Given the description of an element on the screen output the (x, y) to click on. 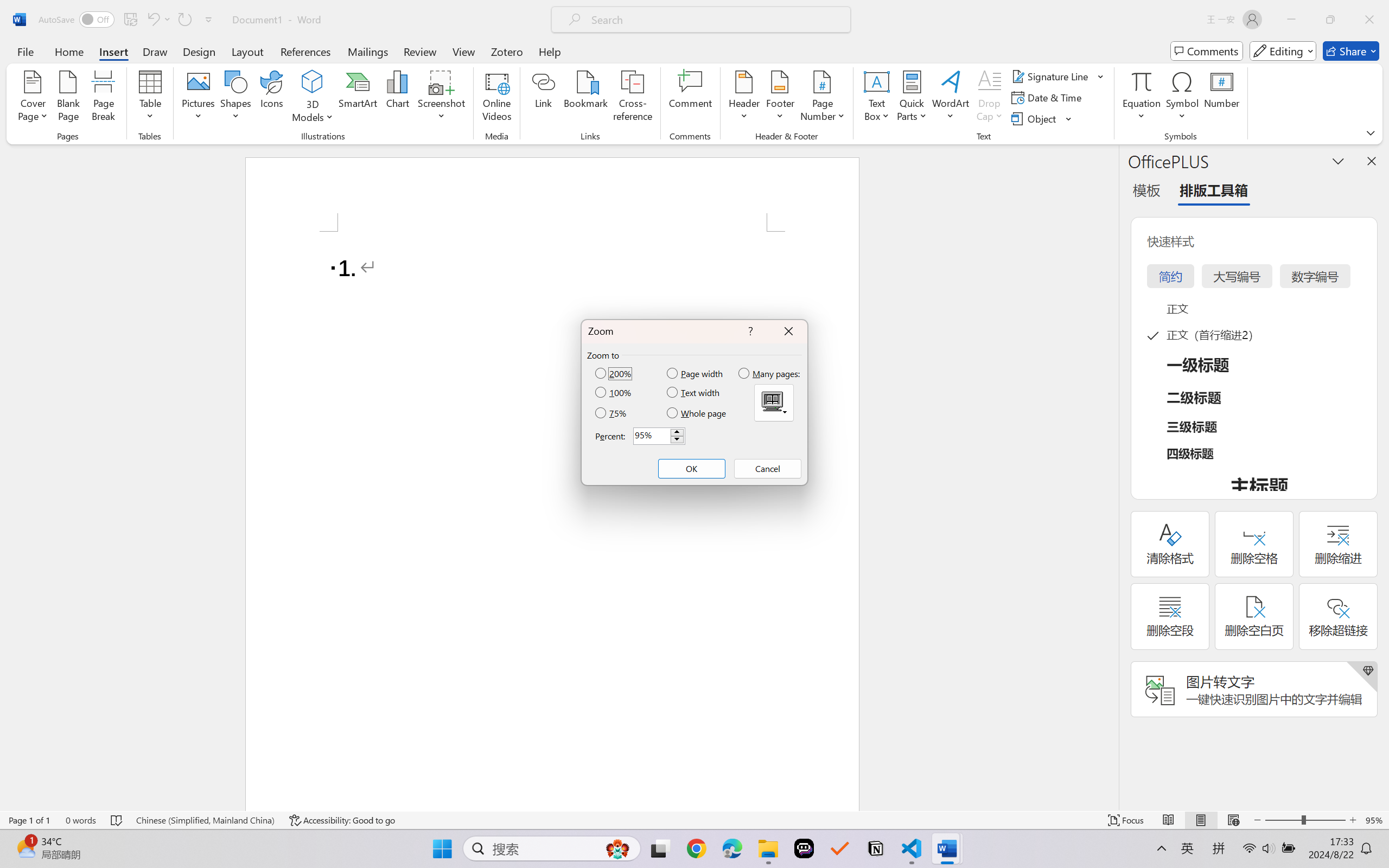
SmartArt... (358, 97)
Cover Page (33, 97)
Microsoft search (715, 19)
Bookmark... (585, 97)
100% (614, 392)
Cancel (767, 468)
